Given the description of an element on the screen output the (x, y) to click on. 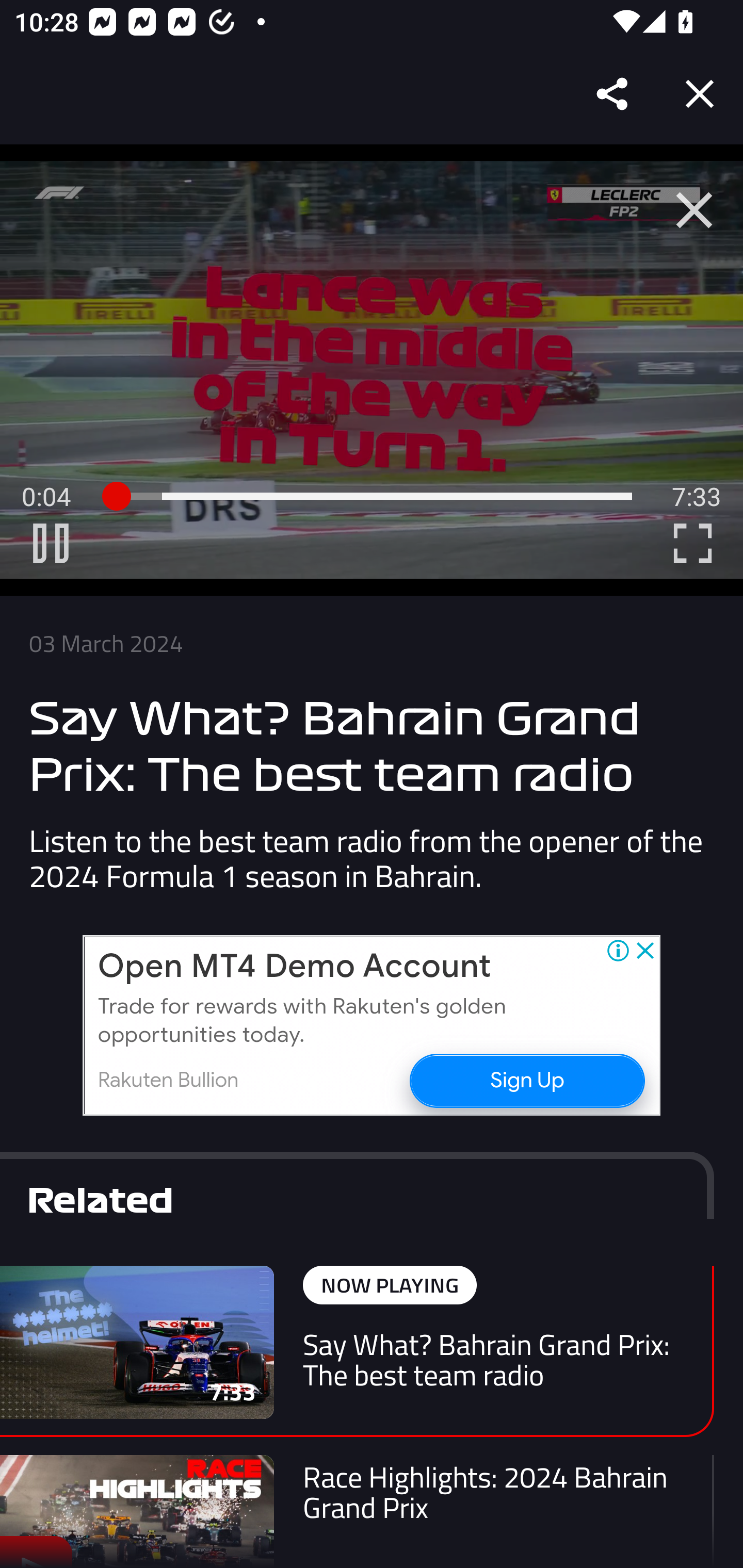
Share (612, 93)
Close (699, 93)
 Close (693, 210)
B Pause (50, 543)
C Enter Fullscreen (692, 543)
Open MT4 Demo Account (294, 966)
Sign Up (526, 1080)
Rakuten Bullion (168, 1080)
7:13 Race Highlights: 2024 Bahrain Grand Prix (357, 1511)
